Given the description of an element on the screen output the (x, y) to click on. 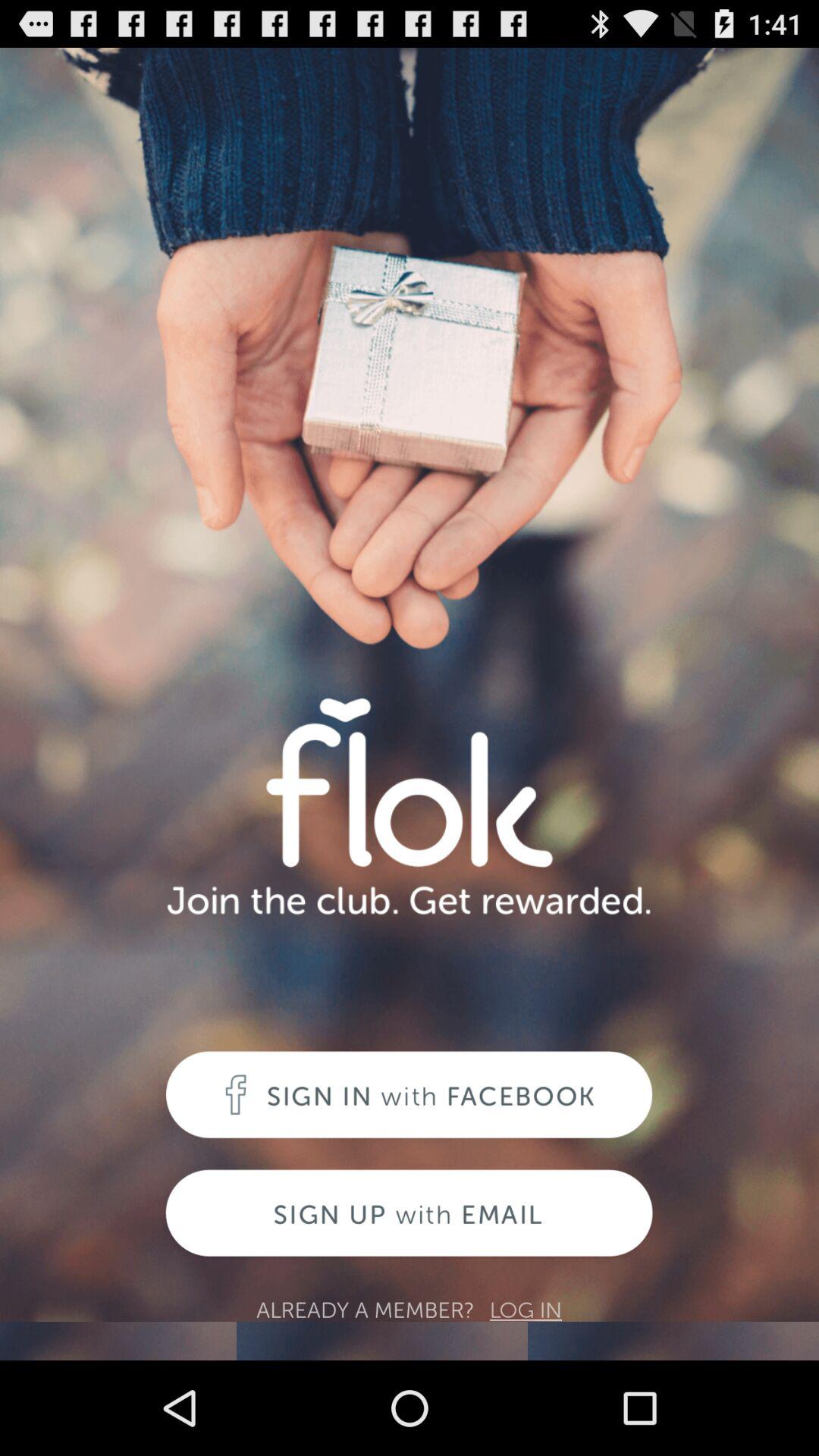
sign up with email (409, 1214)
